Given the description of an element on the screen output the (x, y) to click on. 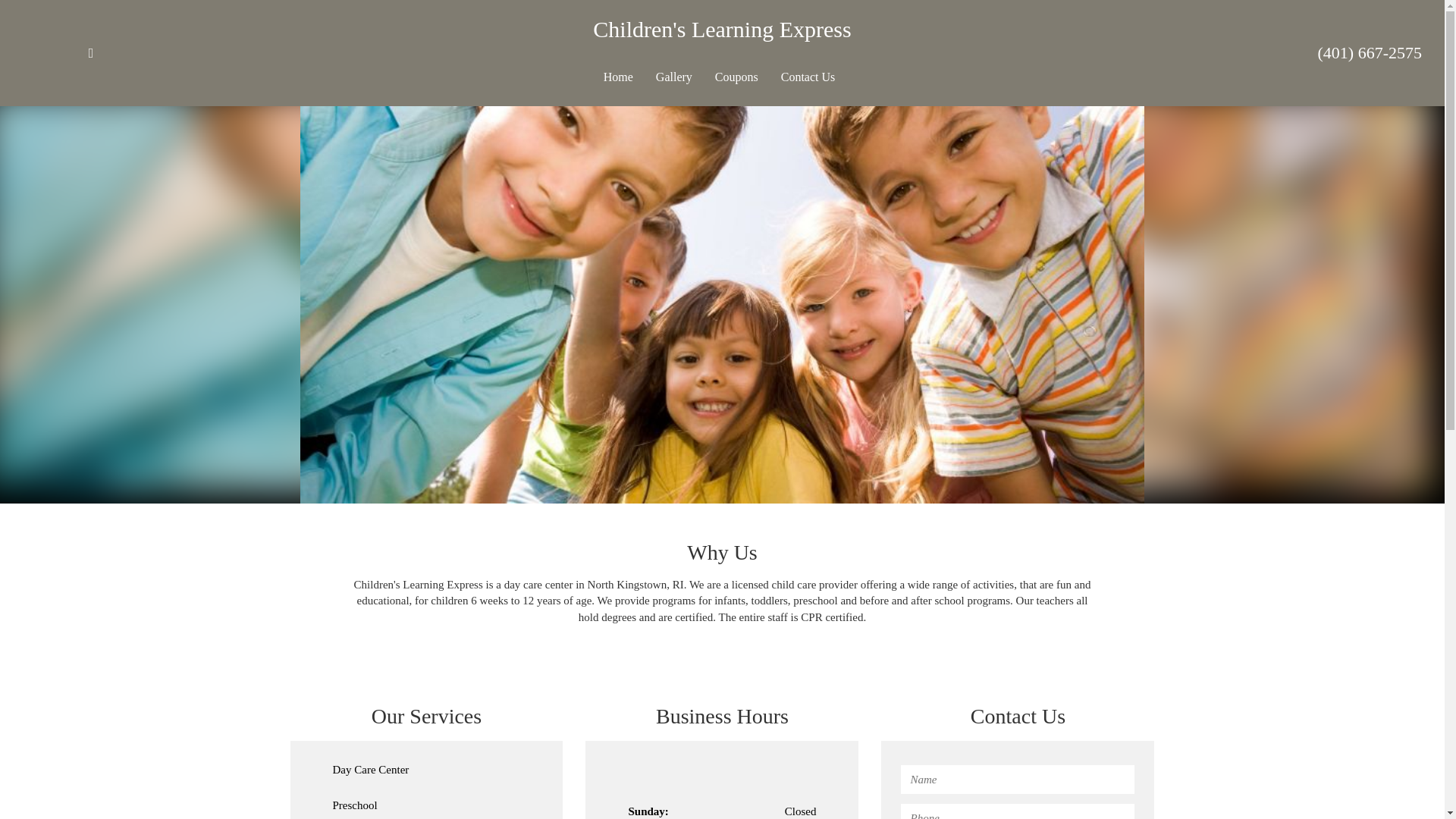
Coupons (736, 77)
Contact Us (808, 77)
Contact Us (808, 77)
Gallery (673, 77)
Preschool (425, 805)
Home (618, 77)
Day Care Center (425, 770)
Home (618, 77)
Coupons (736, 77)
Gallery (673, 77)
